Given the description of an element on the screen output the (x, y) to click on. 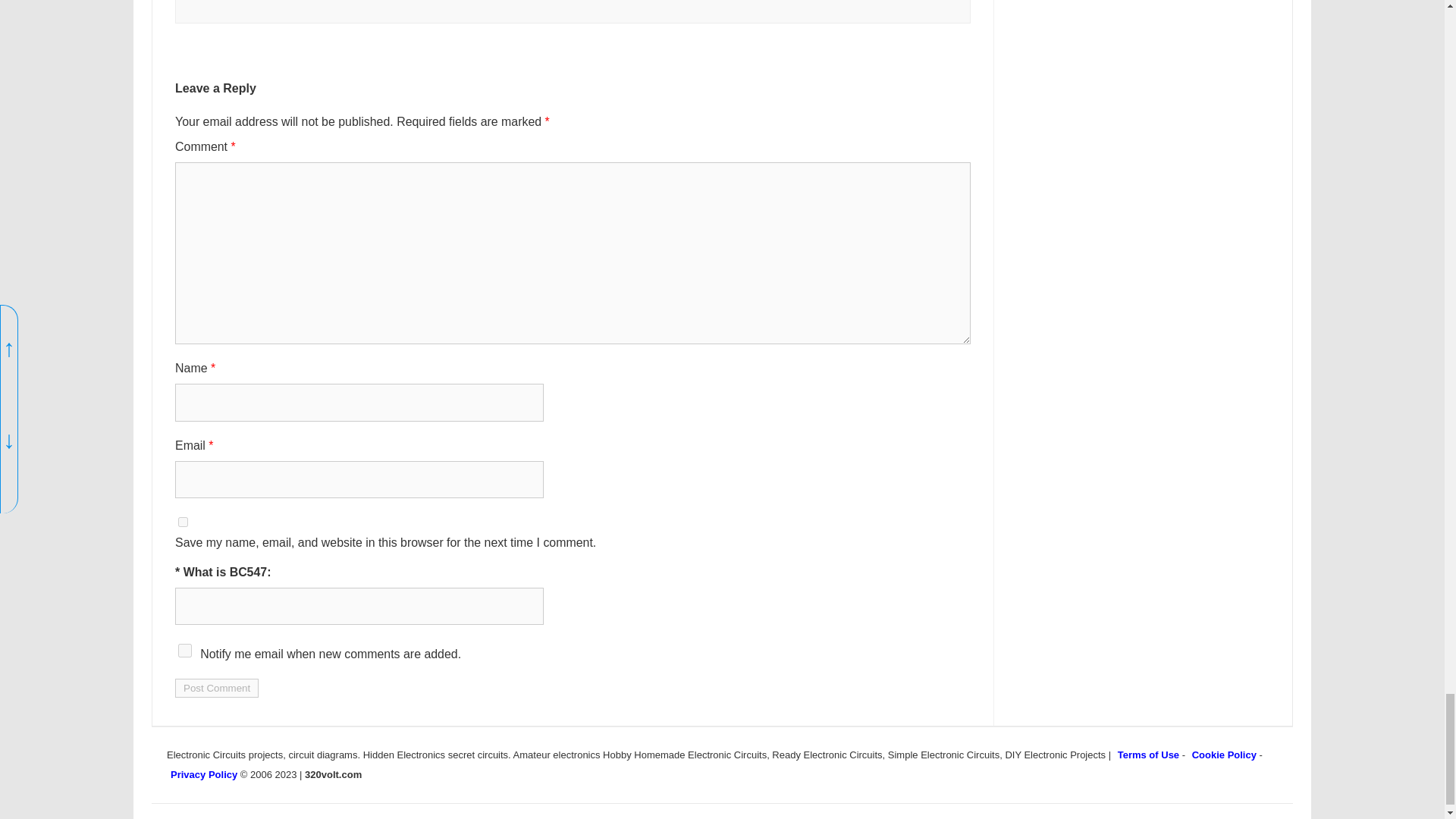
1 (184, 650)
Post Comment (216, 687)
Terms of Use (1148, 754)
yes (182, 521)
Cookie Policy (1224, 754)
Post Comment (216, 687)
